Given the description of an element on the screen output the (x, y) to click on. 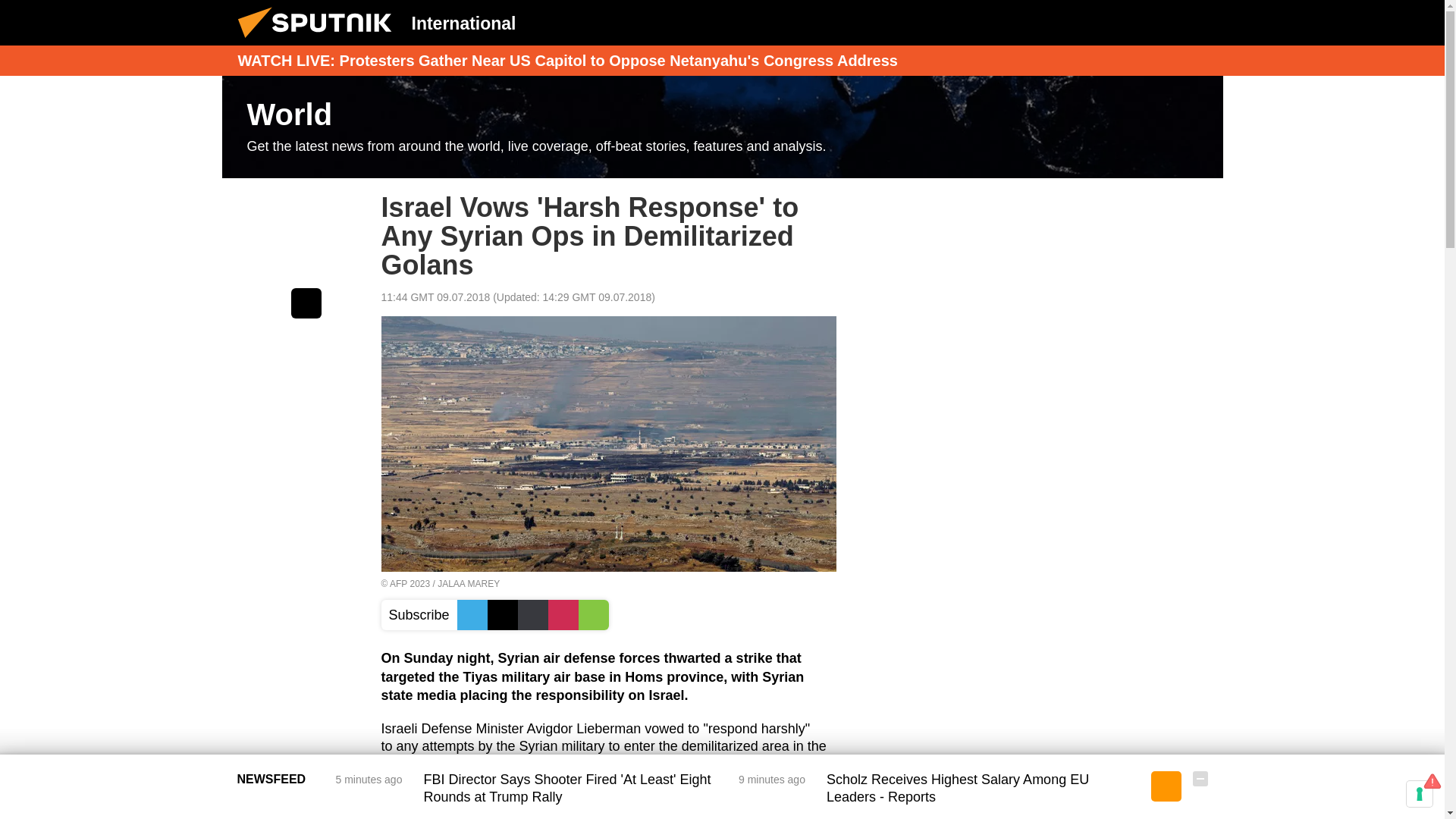
Sputnik International (319, 41)
World (722, 127)
Chats (1199, 22)
Authorization (1123, 22)
